Given the description of an element on the screen output the (x, y) to click on. 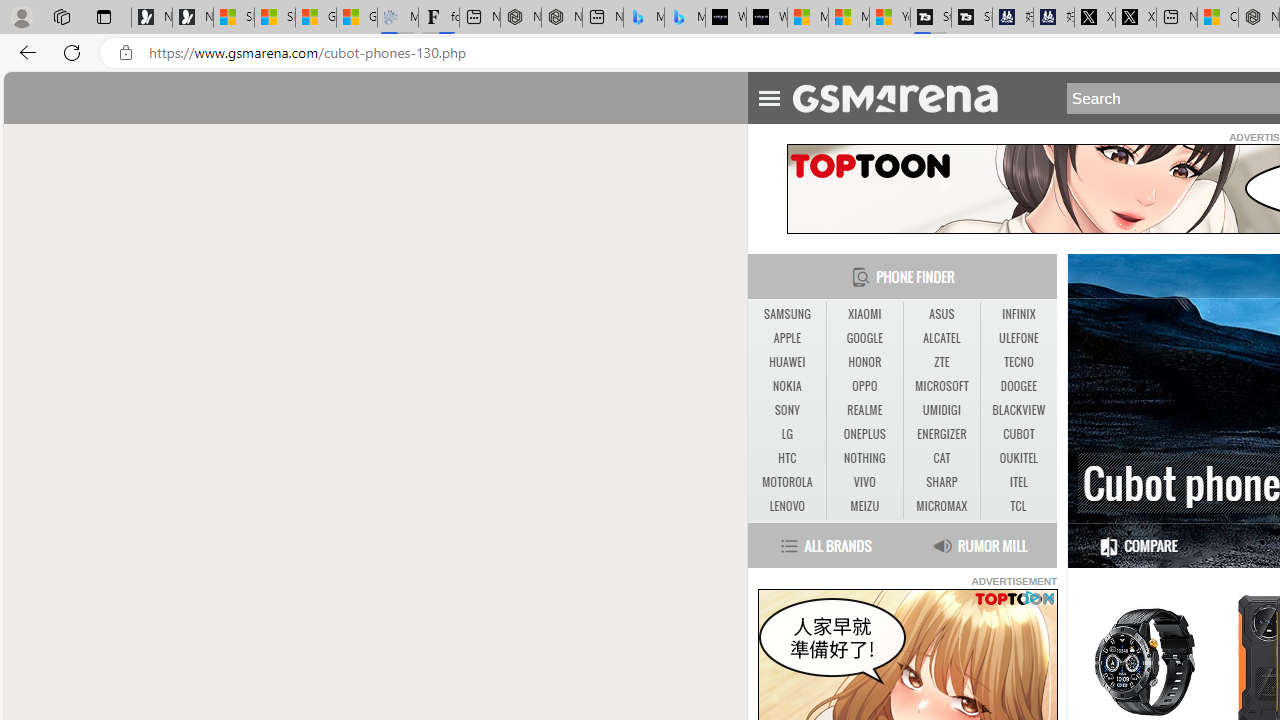
ENERGIZER (941, 434)
HUAWEI (786, 362)
XIAOMI (864, 314)
AutomationID: anchor (904, 97)
CUBOT (1018, 434)
Gilma and Hector both pose tropical trouble for Hawaii (356, 17)
APPLE (786, 338)
TCL (1018, 506)
Microsoft Bing Travel - Shangri-La Hotel Bangkok (684, 17)
ULEFONE (1018, 338)
MICROSOFT (941, 386)
NOTHING (863, 457)
